Given the description of an element on the screen output the (x, y) to click on. 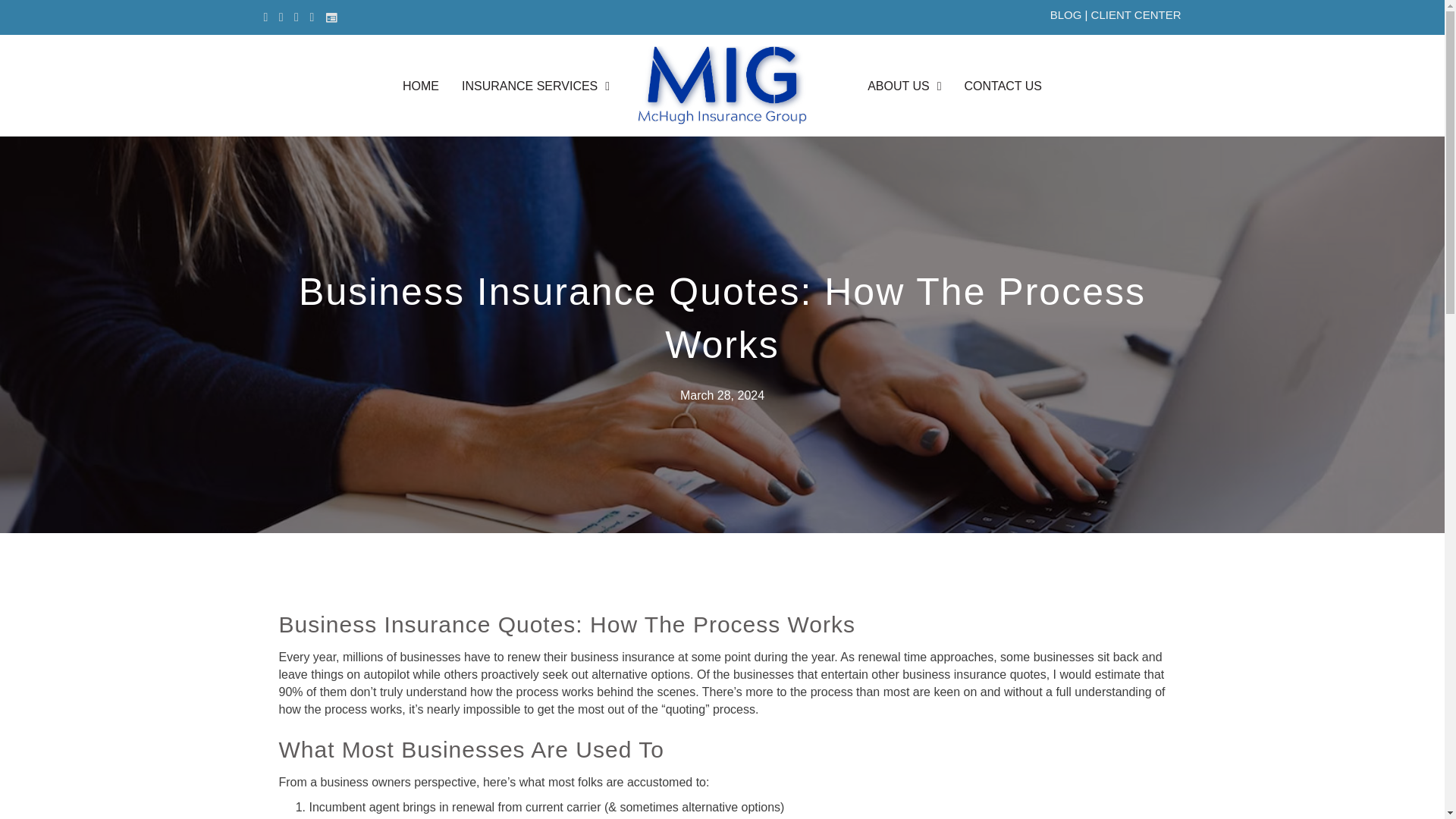
CONTACT US (1002, 85)
ABOUT US (904, 85)
BLOG (1065, 14)
HOME (420, 85)
CLIENT CENTER (1135, 14)
INSURANCE SERVICES (535, 85)
